Given the description of an element on the screen output the (x, y) to click on. 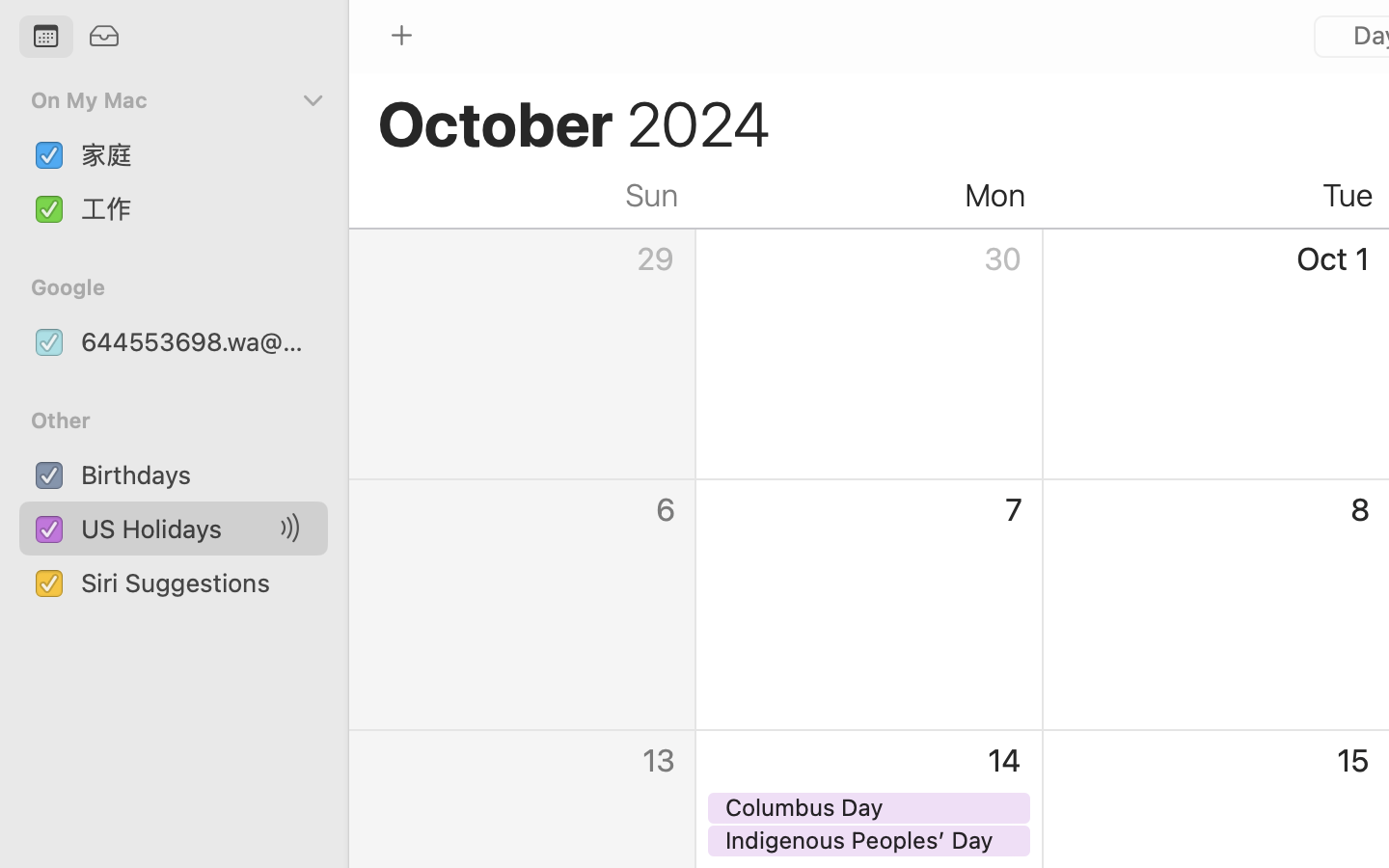
Google Element type: AXStaticText (185, 286)
工作 Element type: AXTextField (196, 207)
Other Element type: AXStaticText (185, 420)
<AXUIElement 0x125c4b100> {pid=1173} Element type: AXRadioGroup (76, 37)
Birthdays Element type: AXStaticText (196, 474)
